Given the description of an element on the screen output the (x, y) to click on. 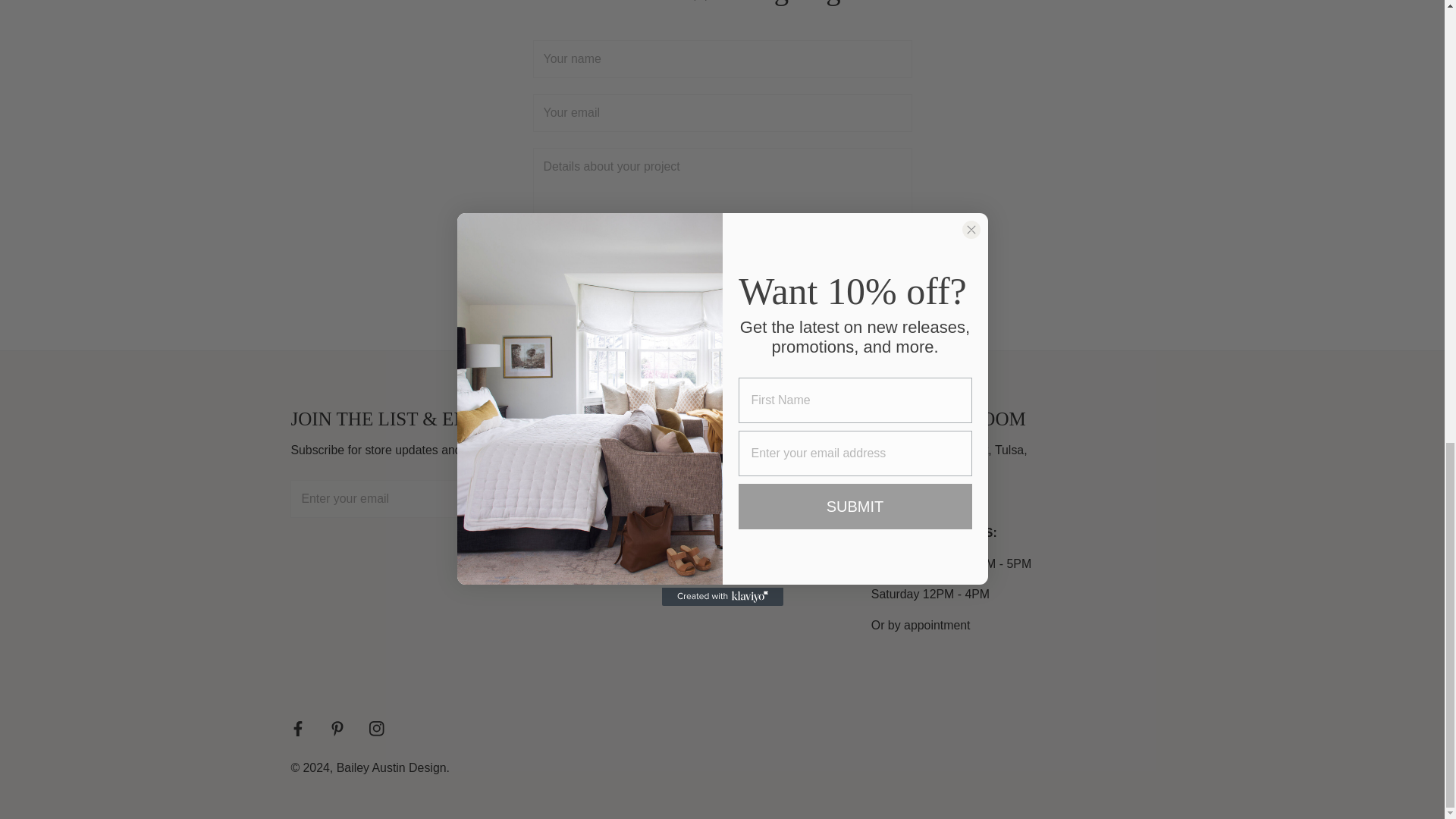
SUBMIT (721, 292)
Contact (696, 451)
Terms of Service (720, 572)
Facebook (297, 728)
Bailey Austin Design (391, 767)
Pinterest (336, 728)
Privacy Policy (713, 548)
About (691, 499)
Instagram (376, 728)
To the Trade (708, 523)
Instagram (376, 728)
Pinterest (336, 728)
Facebook (297, 728)
